Given the description of an element on the screen output the (x, y) to click on. 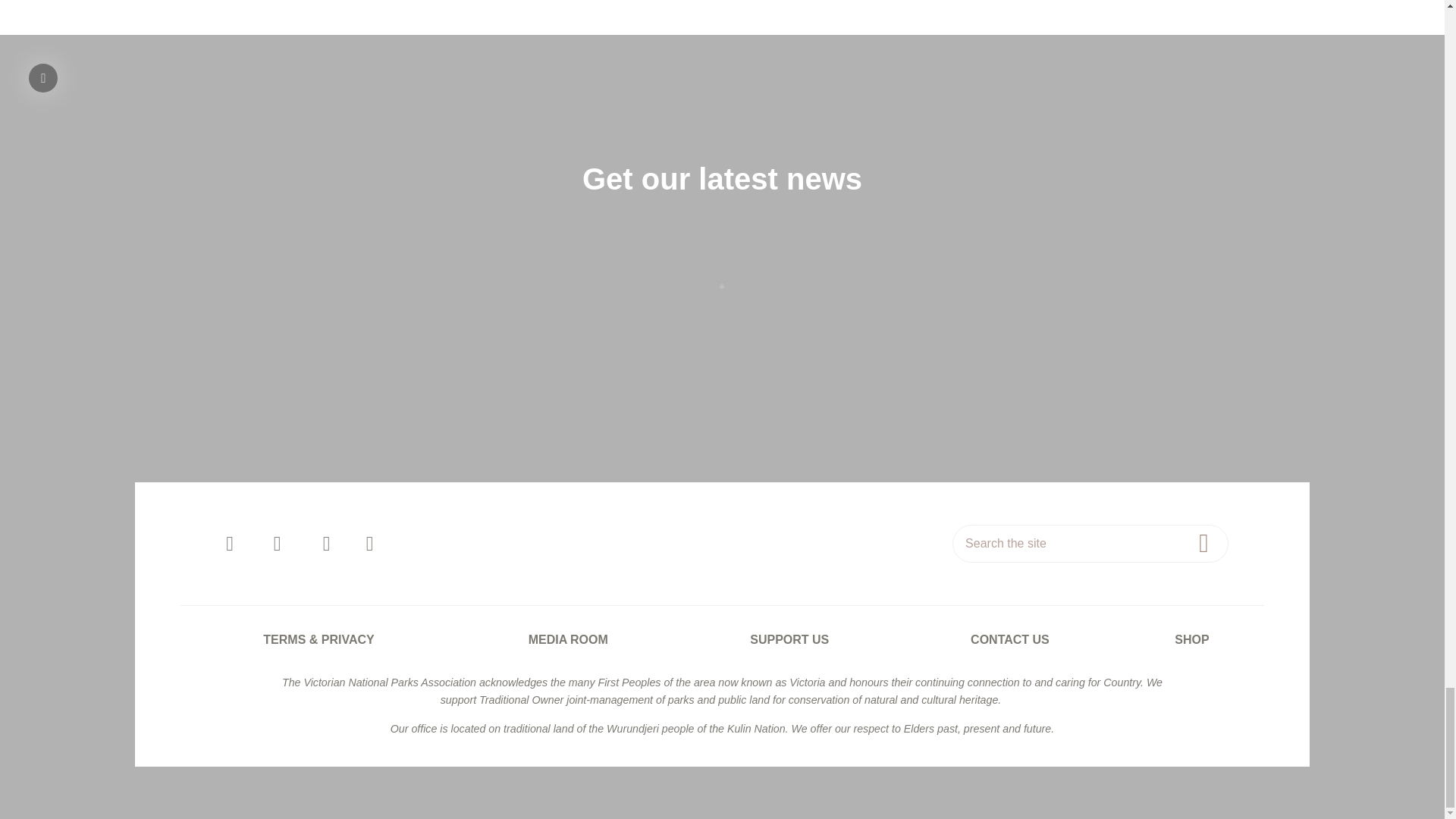
Footer menu (721, 639)
Search for: (1090, 543)
Social menu (400, 543)
